Given the description of an element on the screen output the (x, y) to click on. 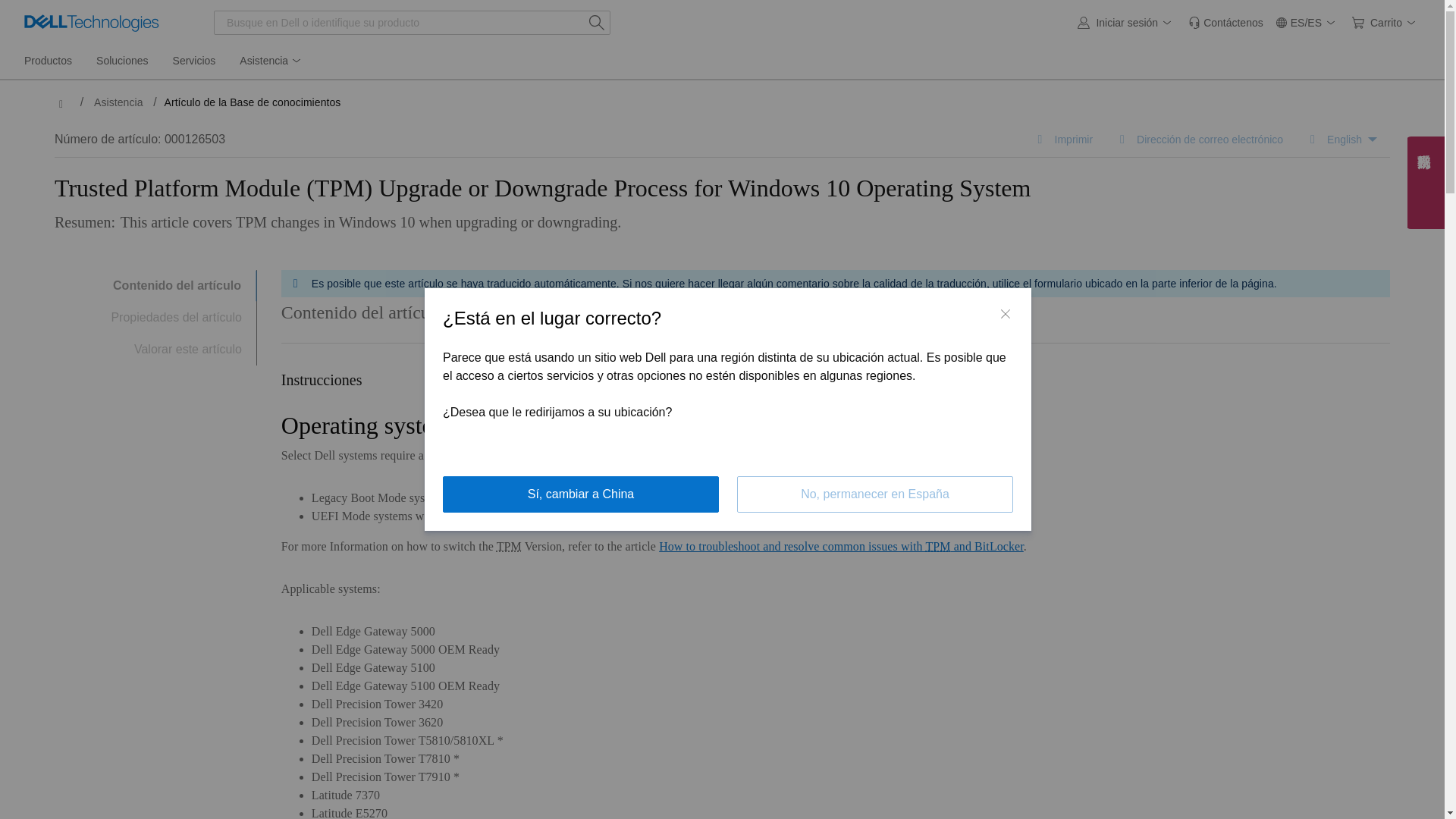
Trusted Platform Module (937, 545)
Servicios (194, 61)
Trusted Platform Module (488, 454)
Soluciones (122, 61)
Asistencia (271, 61)
Carrito (1385, 22)
Productos (47, 61)
Trusted Platform Module (640, 424)
Trusted Platform Module (508, 545)
